Given the description of an element on the screen output the (x, y) to click on. 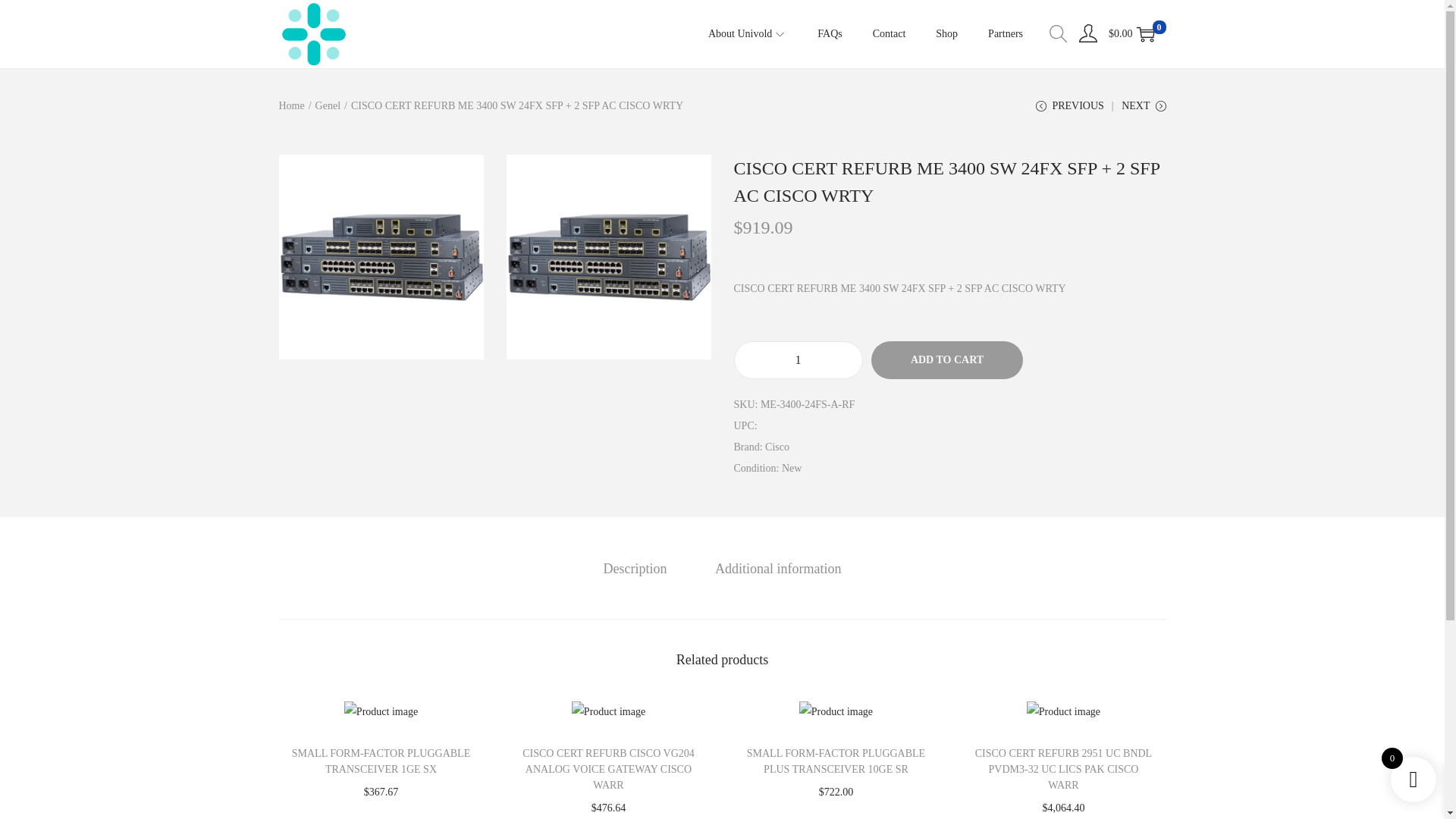
0 (1144, 34)
Home (291, 105)
ADD TO CART (946, 360)
About Univold (747, 33)
NEXT (1143, 111)
PREVIOUS (1069, 111)
Genel (327, 105)
Description (635, 568)
Additional information (777, 568)
